Given the description of an element on the screen output the (x, y) to click on. 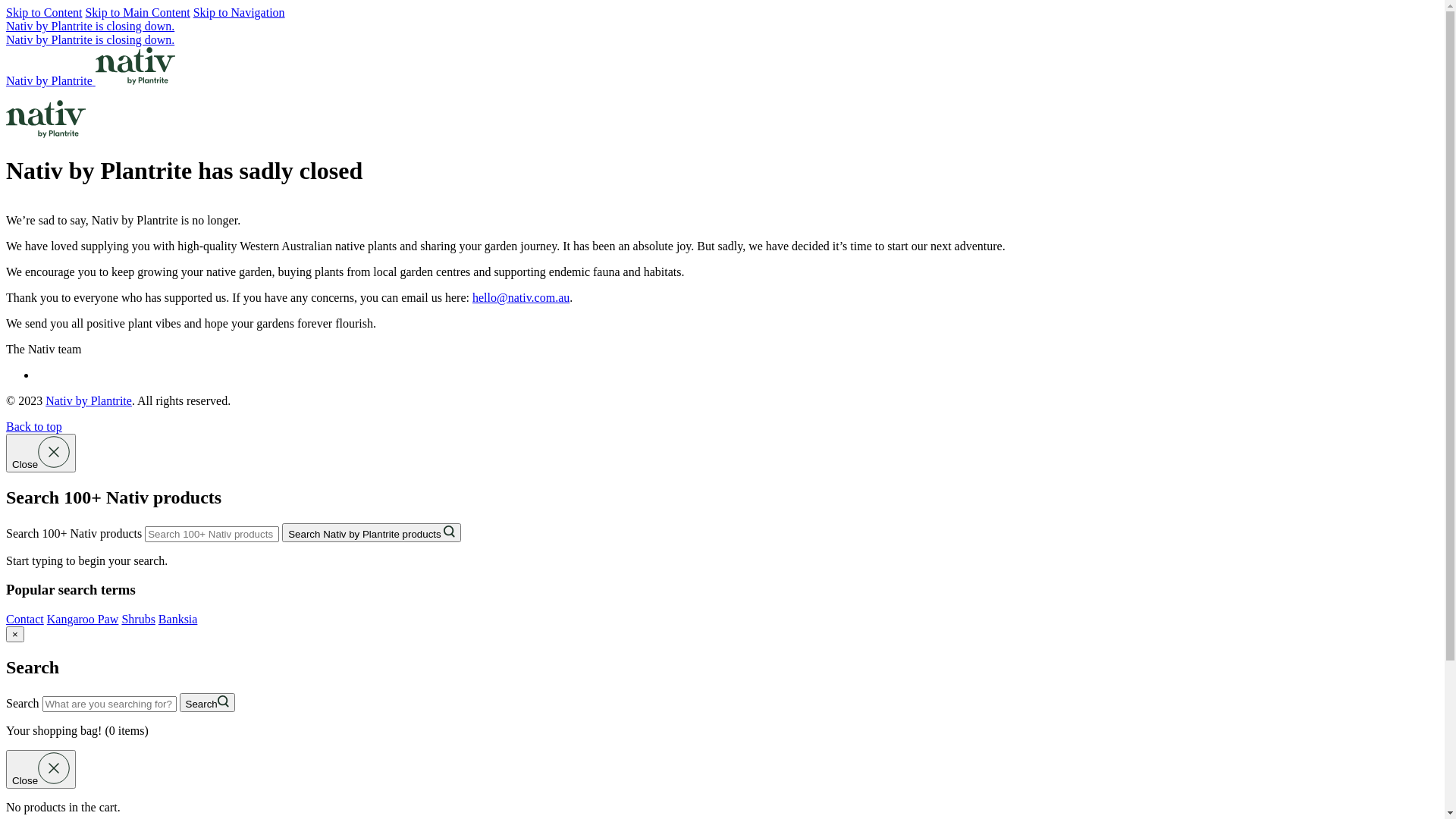
Search Element type: text (207, 702)
Banksia Element type: text (177, 618)
Skip to Content Element type: text (43, 12)
Back to top Element type: text (34, 426)
hello@nativ.com.au Element type: text (520, 297)
Nativ by Plantrite Element type: text (88, 400)
Skip to Navigation Element type: text (239, 12)
Search Nativ by Plantrite products Element type: text (371, 532)
Close Element type: text (40, 768)
Contact Element type: text (24, 618)
Shrubs Element type: text (137, 618)
Nativ by Plantrite Element type: text (90, 80)
Kangaroo Paw Element type: text (83, 618)
Close Element type: text (40, 452)
Skip to Main Content Element type: text (136, 12)
